Given the description of an element on the screen output the (x, y) to click on. 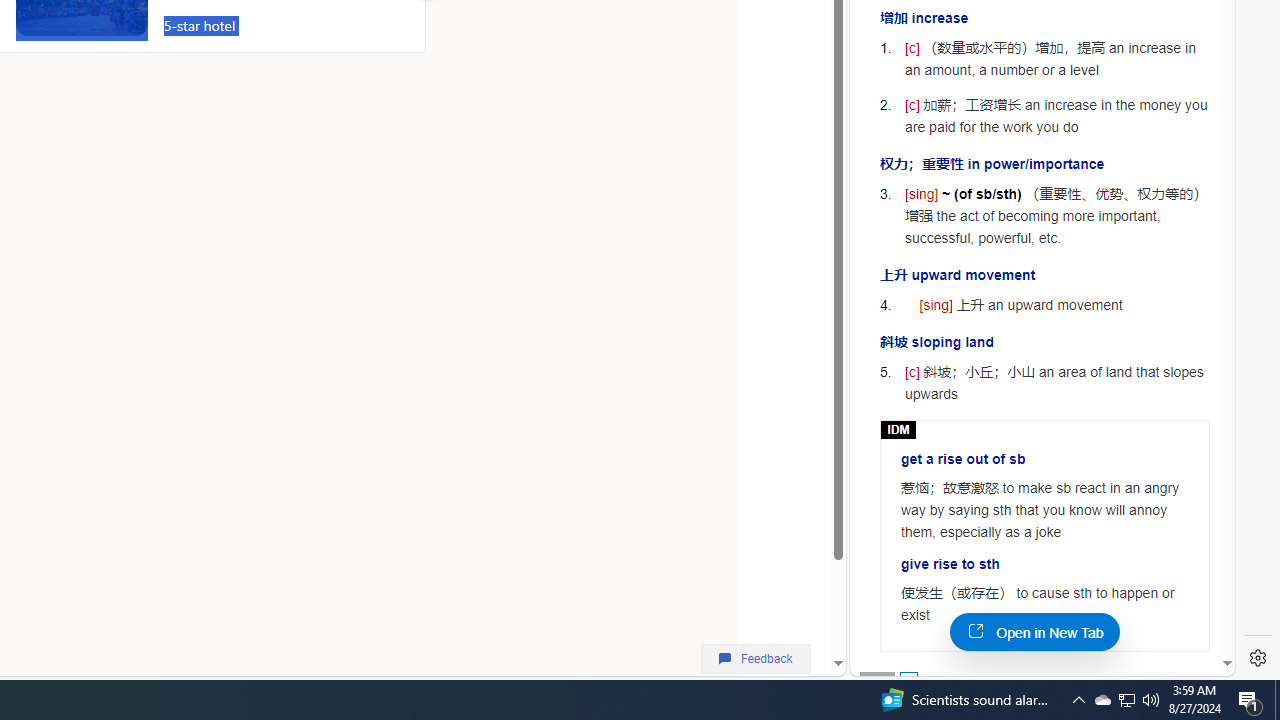
AutomationID: posbtn_1 (908, 680)
